Given the description of an element on the screen output the (x, y) to click on. 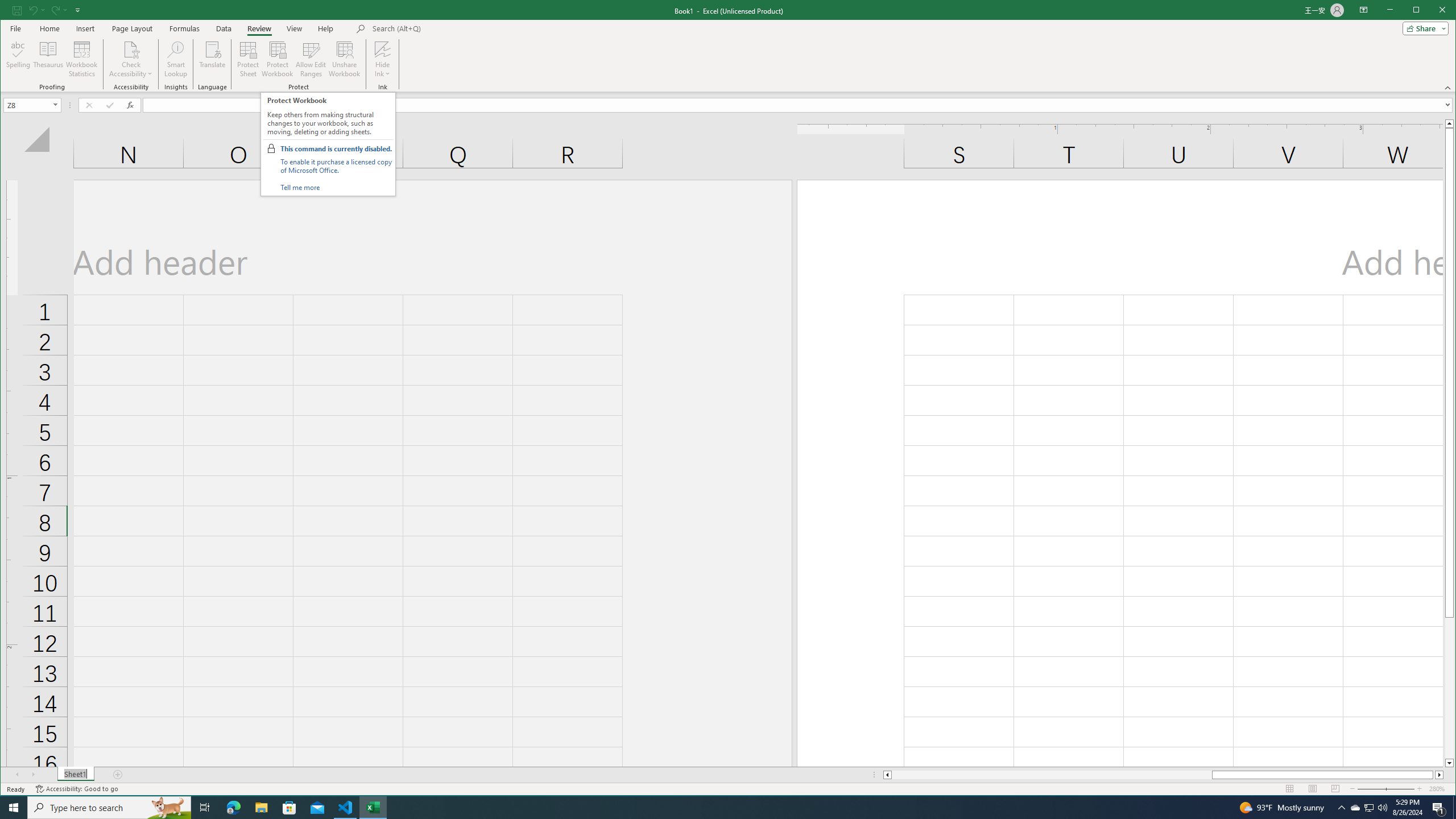
Page left (1051, 774)
Check Accessibility (130, 59)
Ribbon Display Options (1364, 9)
Maximize (1432, 11)
Save (16, 9)
Spelling... (18, 59)
Minimize (1419, 11)
Action Center, 1 new notification (1439, 807)
Notification Chevron (1341, 807)
Start (13, 807)
Class: MsoCommandBar (728, 45)
